Given the description of an element on the screen output the (x, y) to click on. 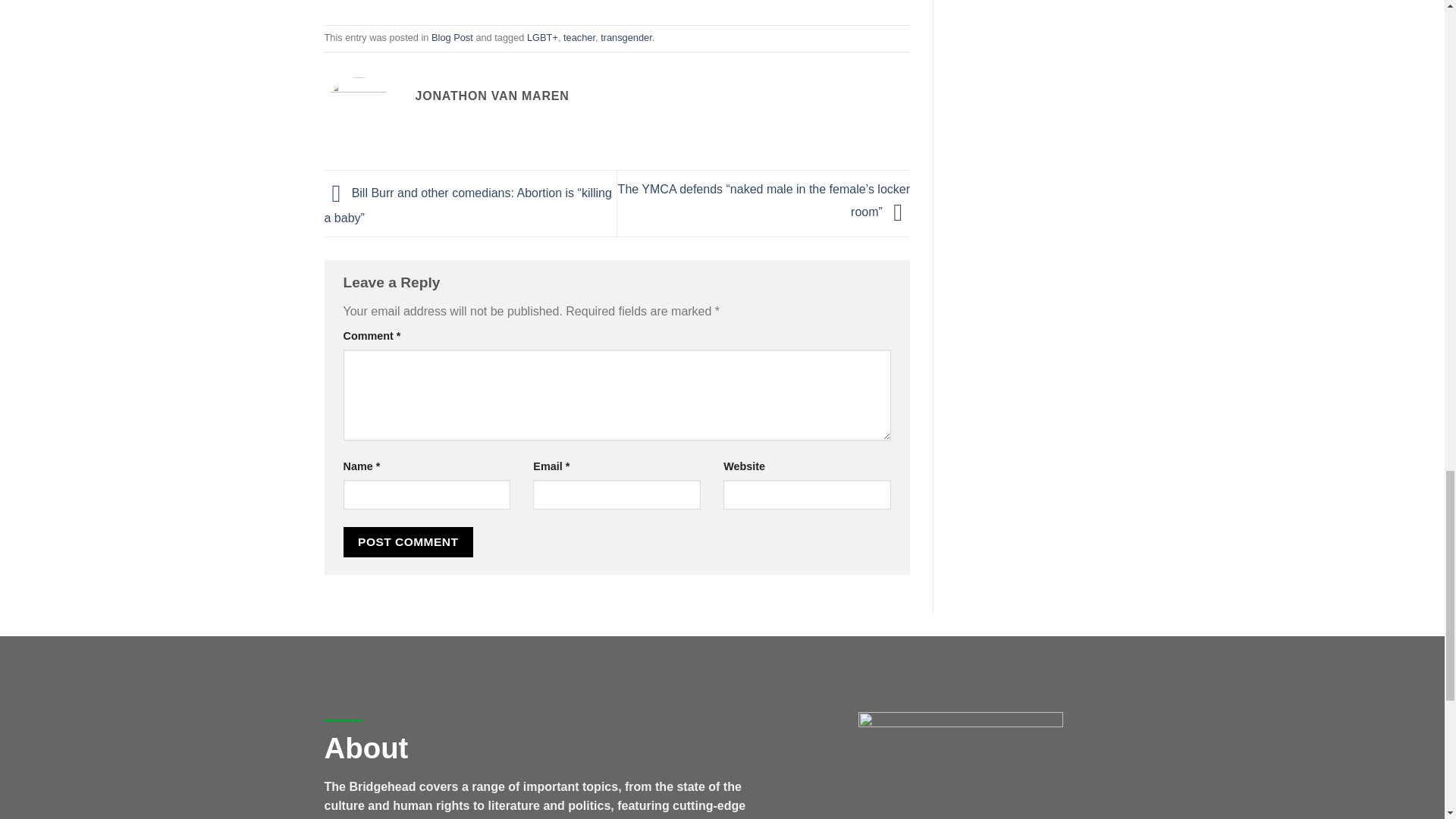
Post Comment (407, 541)
